Given the description of an element on the screen output the (x, y) to click on. 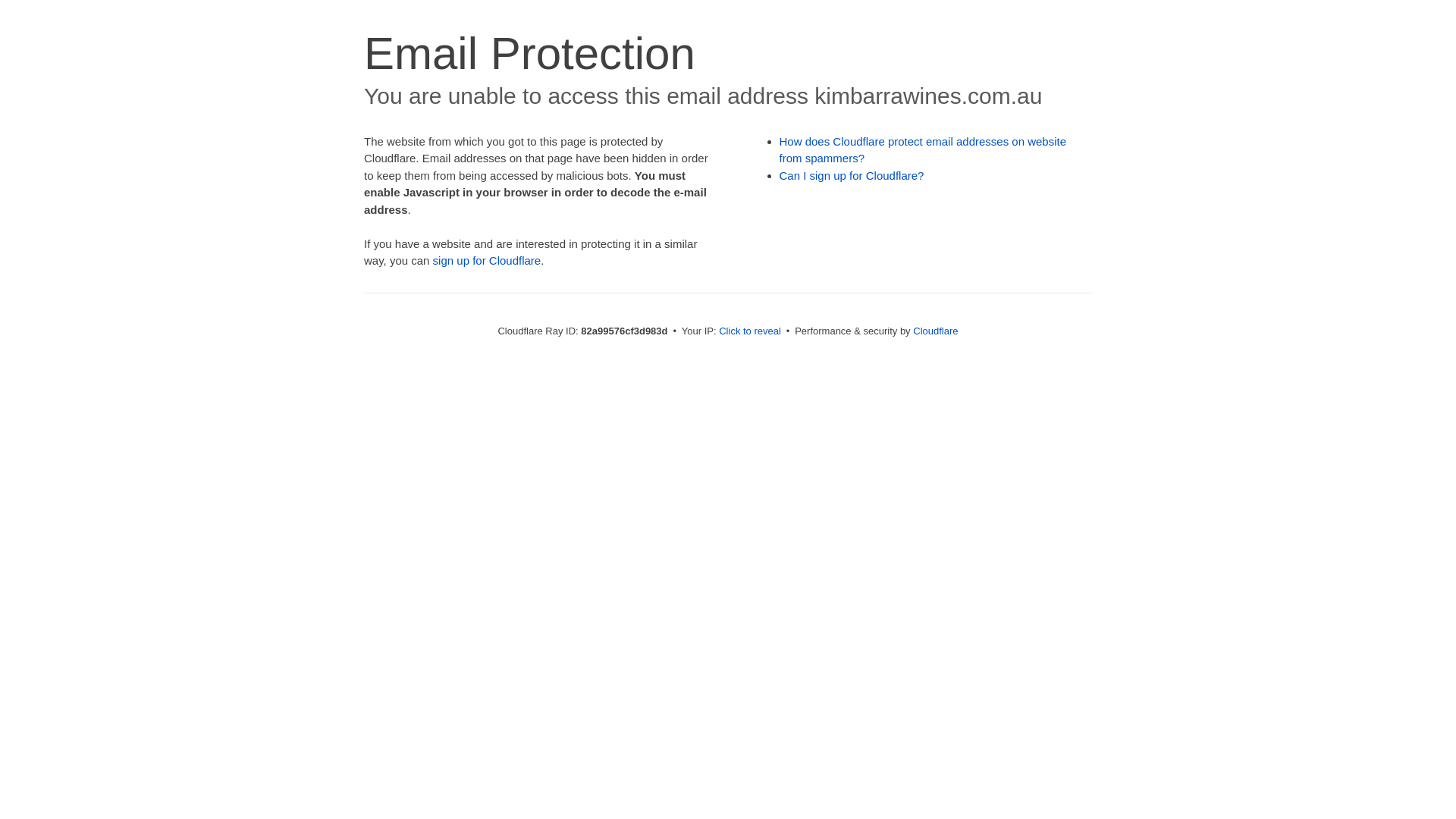
Click to reveal Element type: text (749, 330)
Can I sign up for Cloudflare? Element type: text (851, 175)
Cloudflare Element type: text (935, 330)
sign up for Cloudflare Element type: text (487, 260)
